Given the description of an element on the screen output the (x, y) to click on. 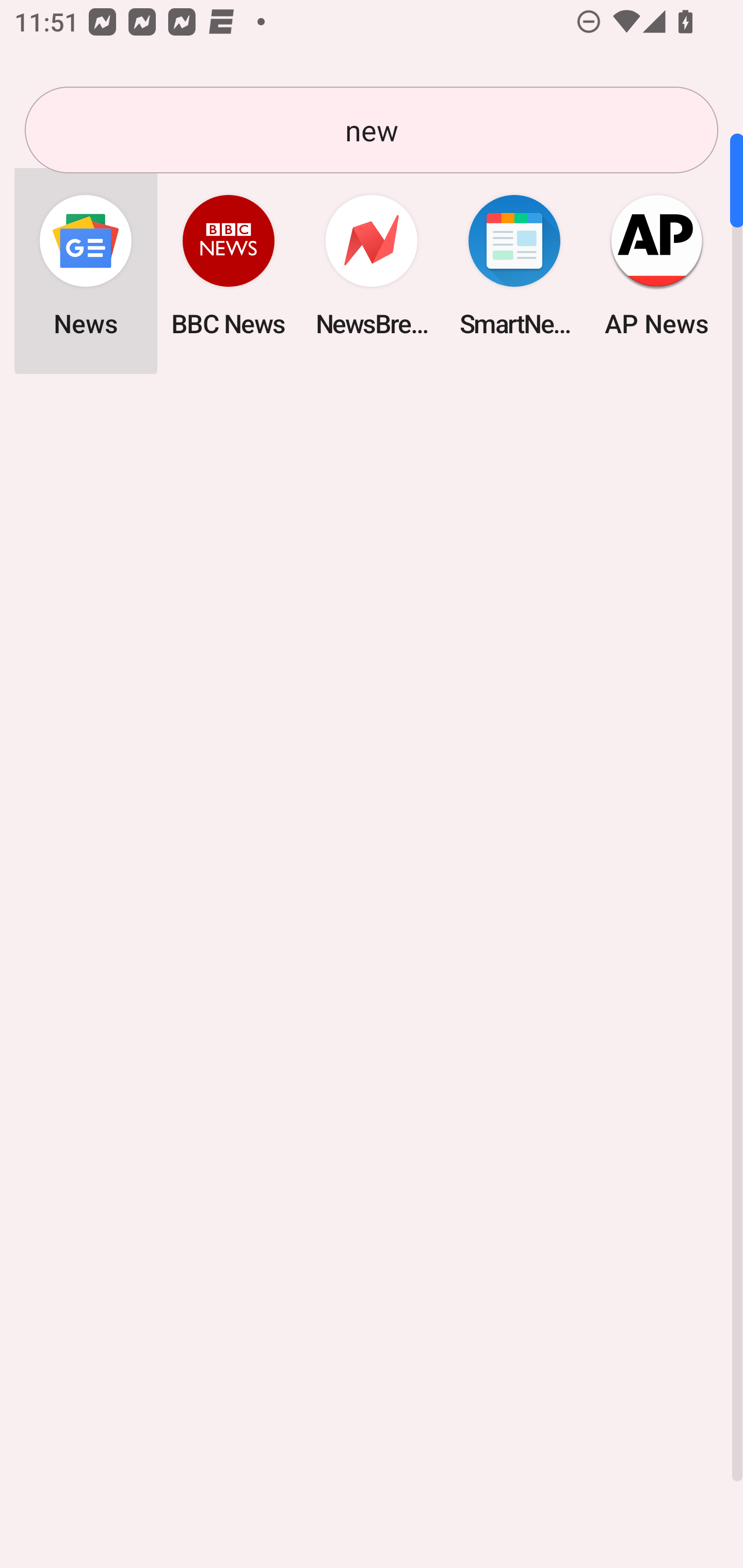
new (371, 130)
News (85, 264)
BBC News (228, 264)
NewsBreak (371, 264)
SmartNews (514, 264)
AP News (656, 264)
